Given the description of an element on the screen output the (x, y) to click on. 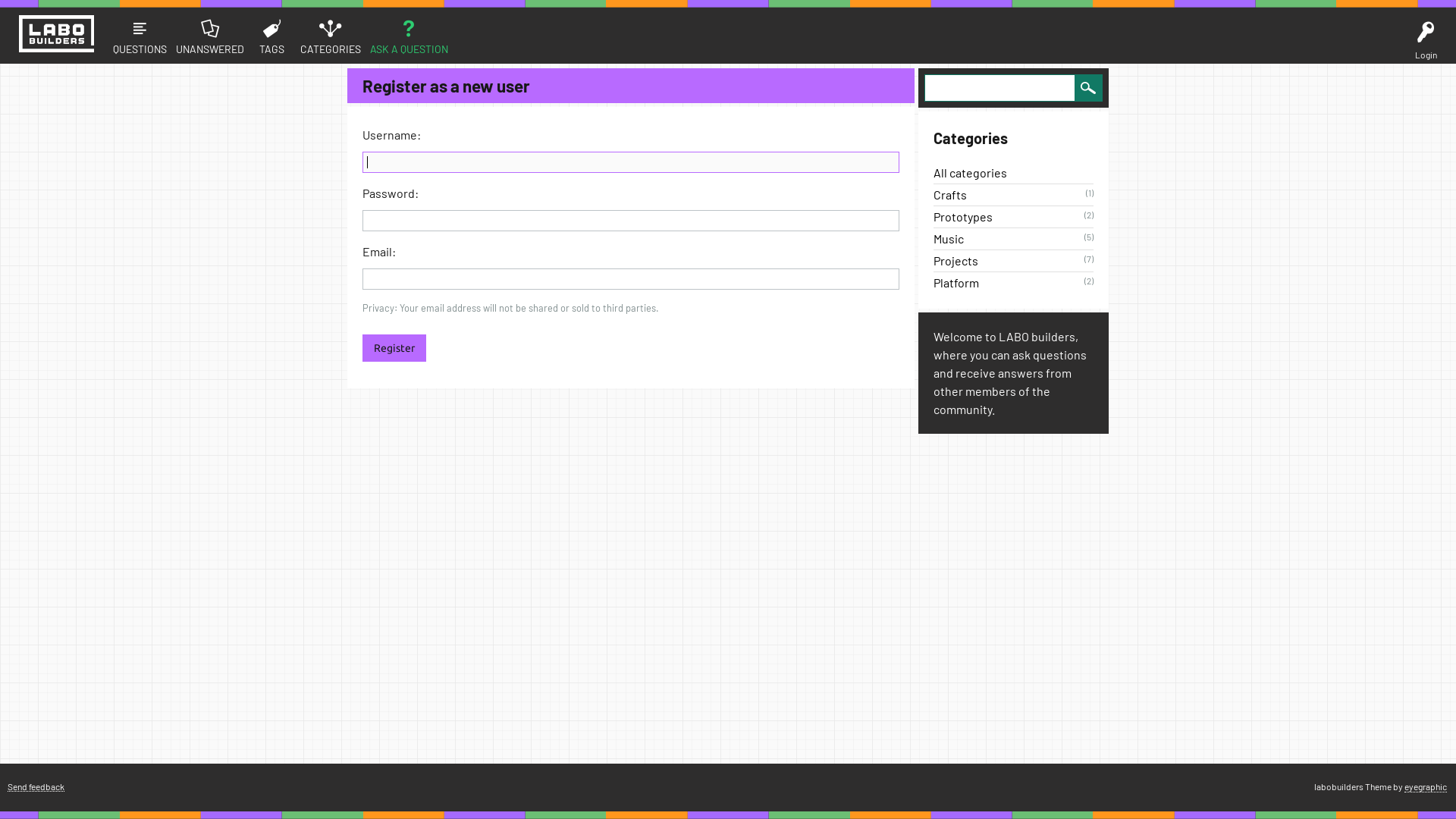
QUESTIONS Element type: text (139, 37)
Prototypes Element type: text (962, 216)
Platform Element type: text (956, 282)
TAGS Element type: text (271, 37)
Search Element type: text (1087, 87)
All categories Element type: text (970, 172)
LABO builders Element type: hover (56, 33)
Register Element type: text (394, 347)
eyegraphic Element type: text (1425, 786)
Crafts Element type: text (949, 194)
Music Element type: text (948, 238)
Send feedback Element type: text (35, 786)
UNANSWERED Element type: text (209, 37)
Projects Element type: text (955, 260)
CATEGORIES Element type: text (330, 37)
ASK A QUESTION Element type: text (408, 37)
